Given the description of an element on the screen output the (x, y) to click on. 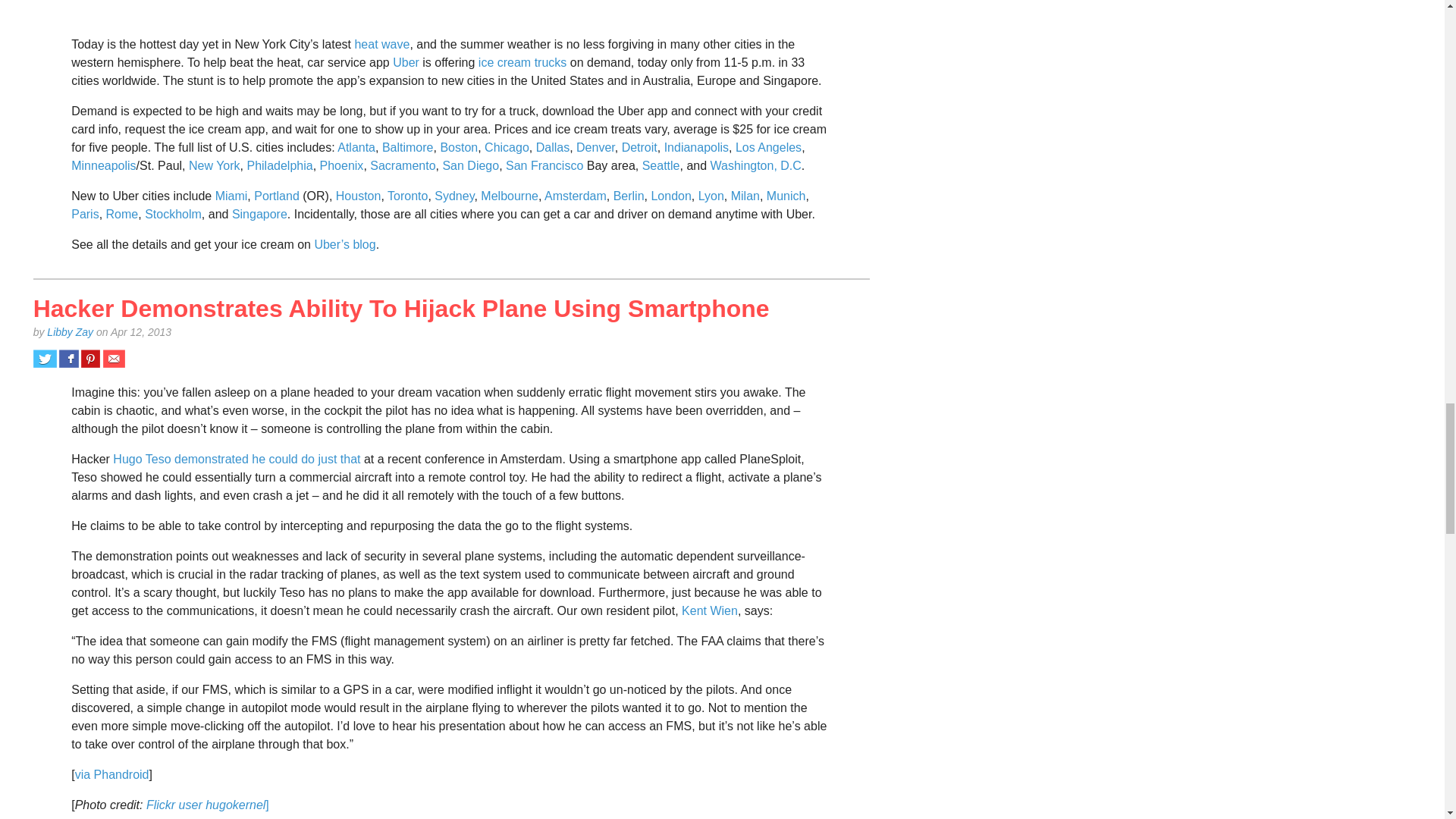
Hacker Demonstrates Ability To Hijack Plane Using Smartphone (401, 308)
